Given the description of an element on the screen output the (x, y) to click on. 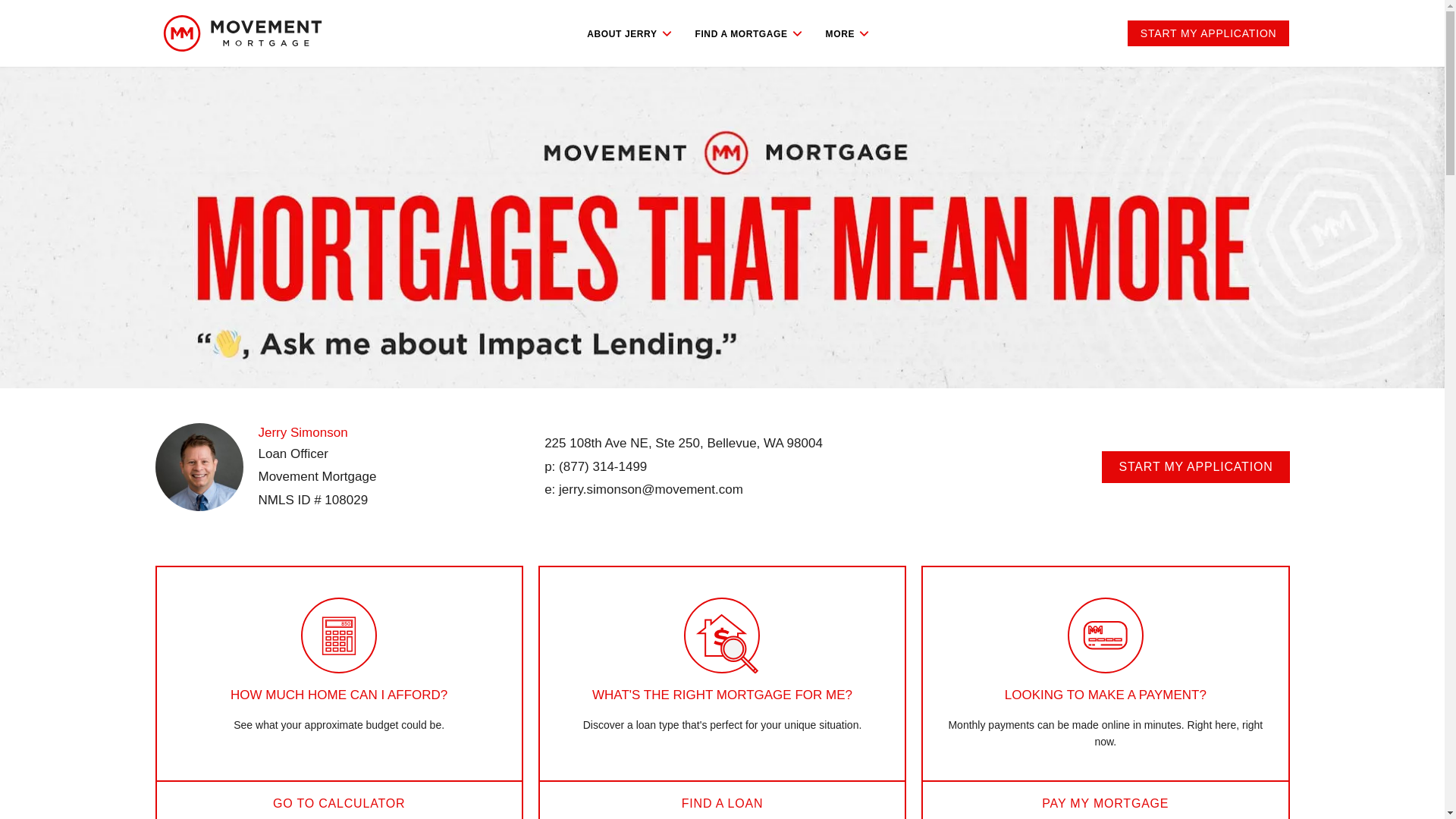
MORE (847, 33)
FIND A MORTGAGE (748, 33)
Movement Mortgage Logo (241, 32)
ABOUT JERRY (629, 33)
